Given the description of an element on the screen output the (x, y) to click on. 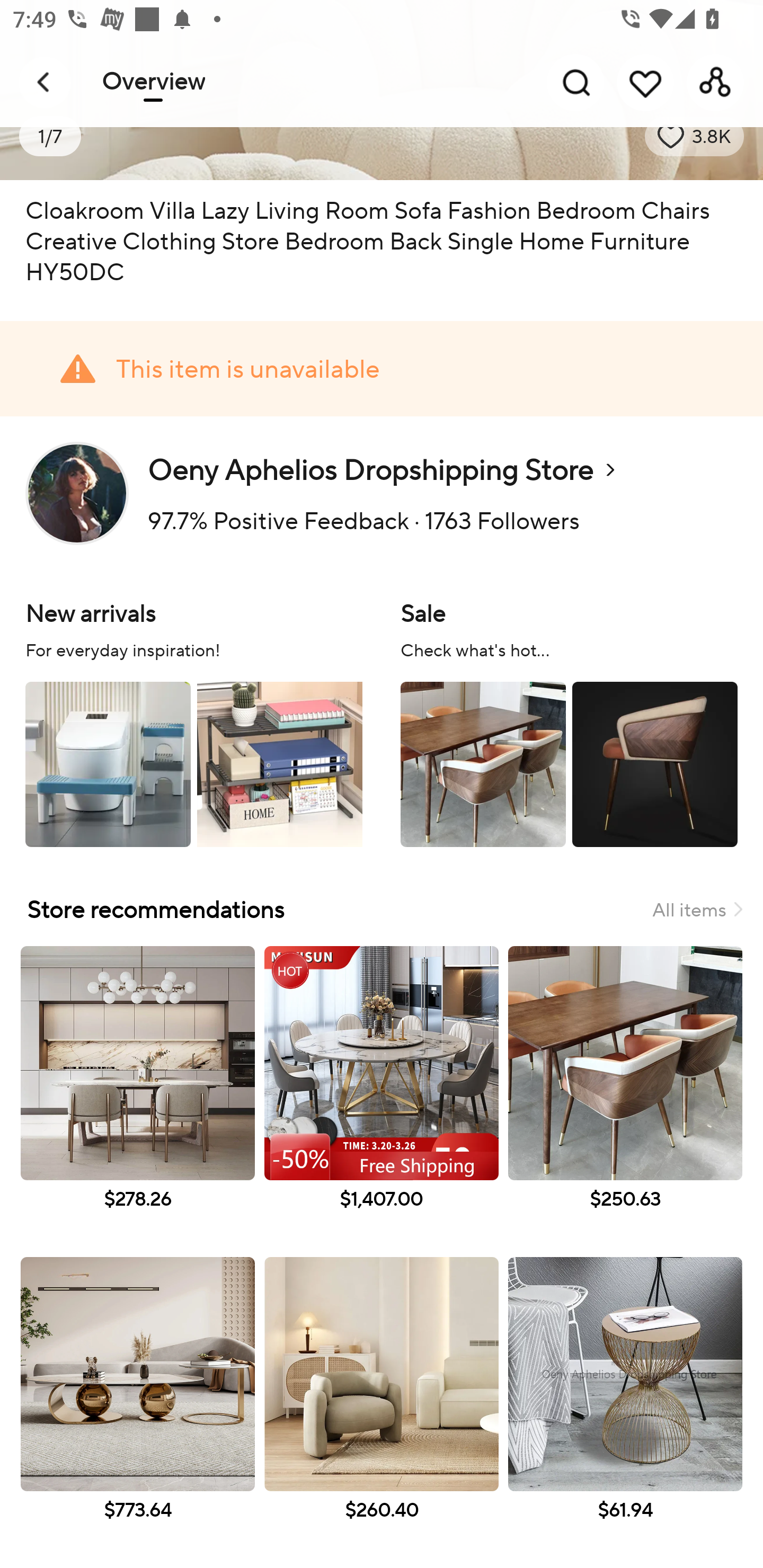
Navigate up (44, 82)
New arrivals For everyday inspiration!  (193, 720)
Sale Check what's hot... (568, 720)
All items (697, 909)
$278.26 (137, 1096)
$1,407.00 (381, 1096)
$250.63 (625, 1096)
$773.64 (137, 1407)
$260.40 (381, 1407)
$61.94 (625, 1407)
